Given the description of an element on the screen output the (x, y) to click on. 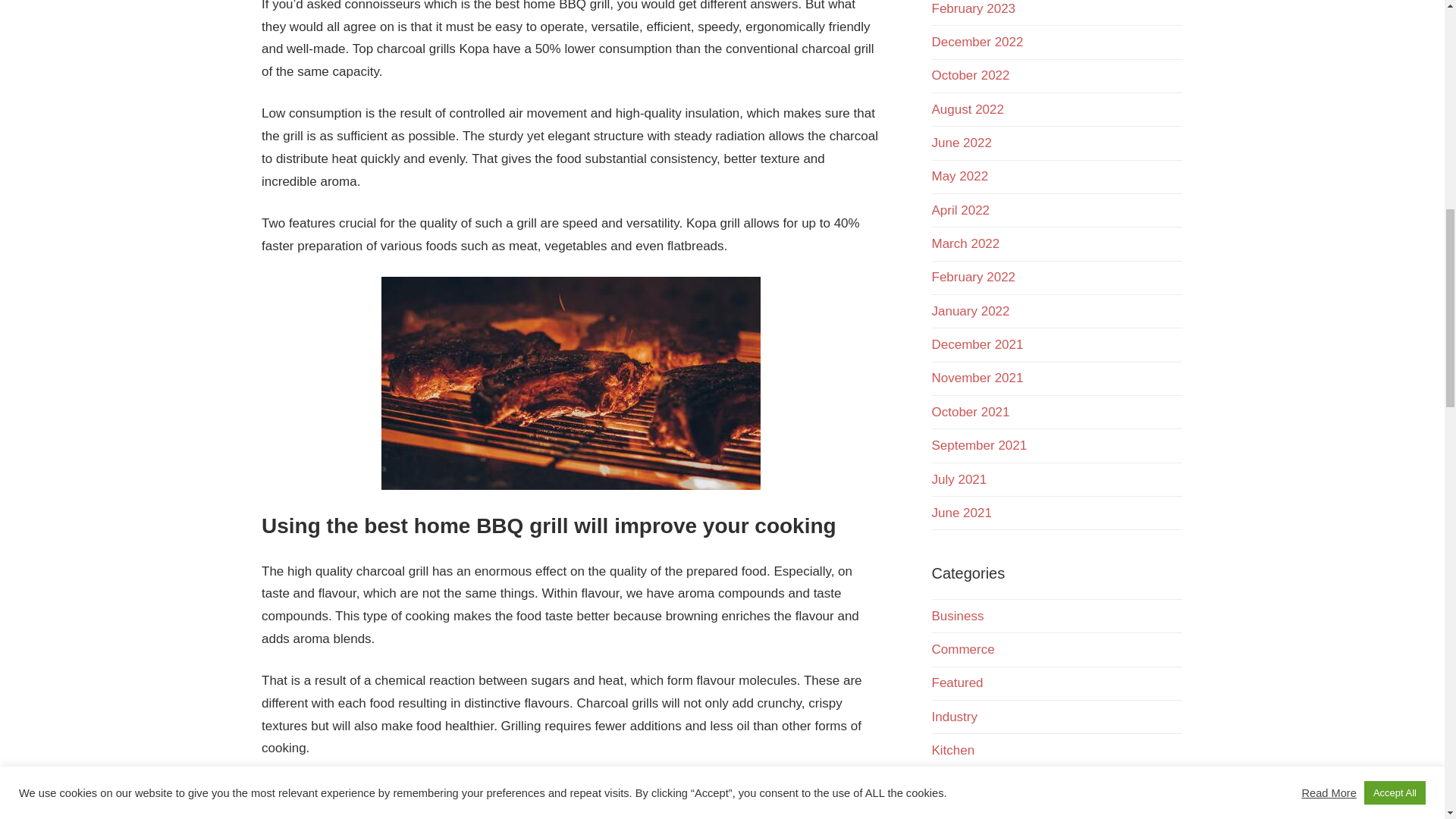
February 2023 (972, 8)
August 2022 (967, 109)
December 2022 (977, 42)
March 2022 (964, 243)
June 2022 (961, 142)
January 2022 (970, 310)
May 2022 (959, 175)
October 2022 (970, 74)
February 2022 (972, 277)
April 2022 (960, 210)
